Given the description of an element on the screen output the (x, y) to click on. 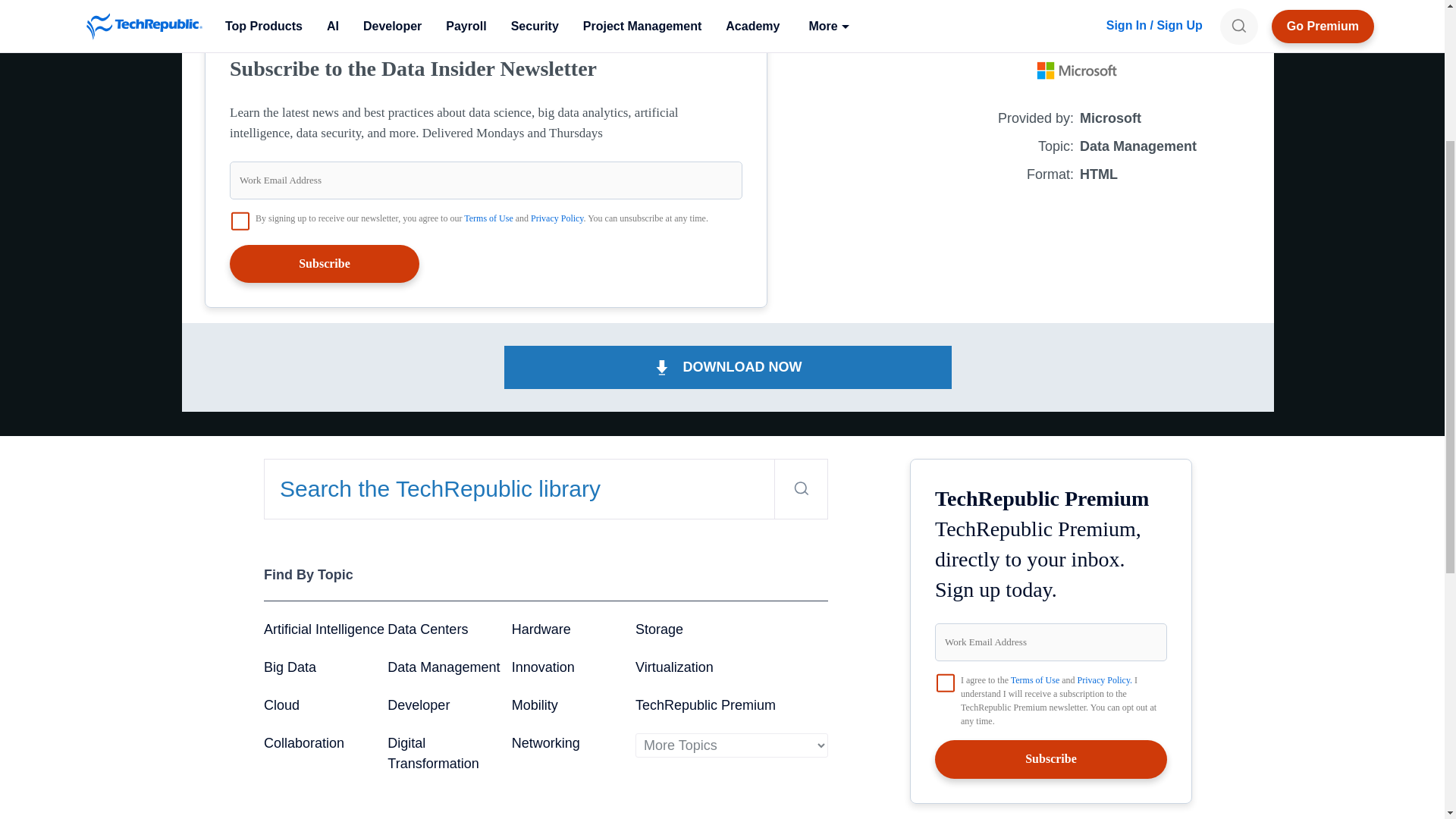
on (239, 221)
Terms of Use (488, 217)
on (945, 683)
build business strategy into your data management efforts. (549, 6)
Privacy Policy (557, 217)
